Given the description of an element on the screen output the (x, y) to click on. 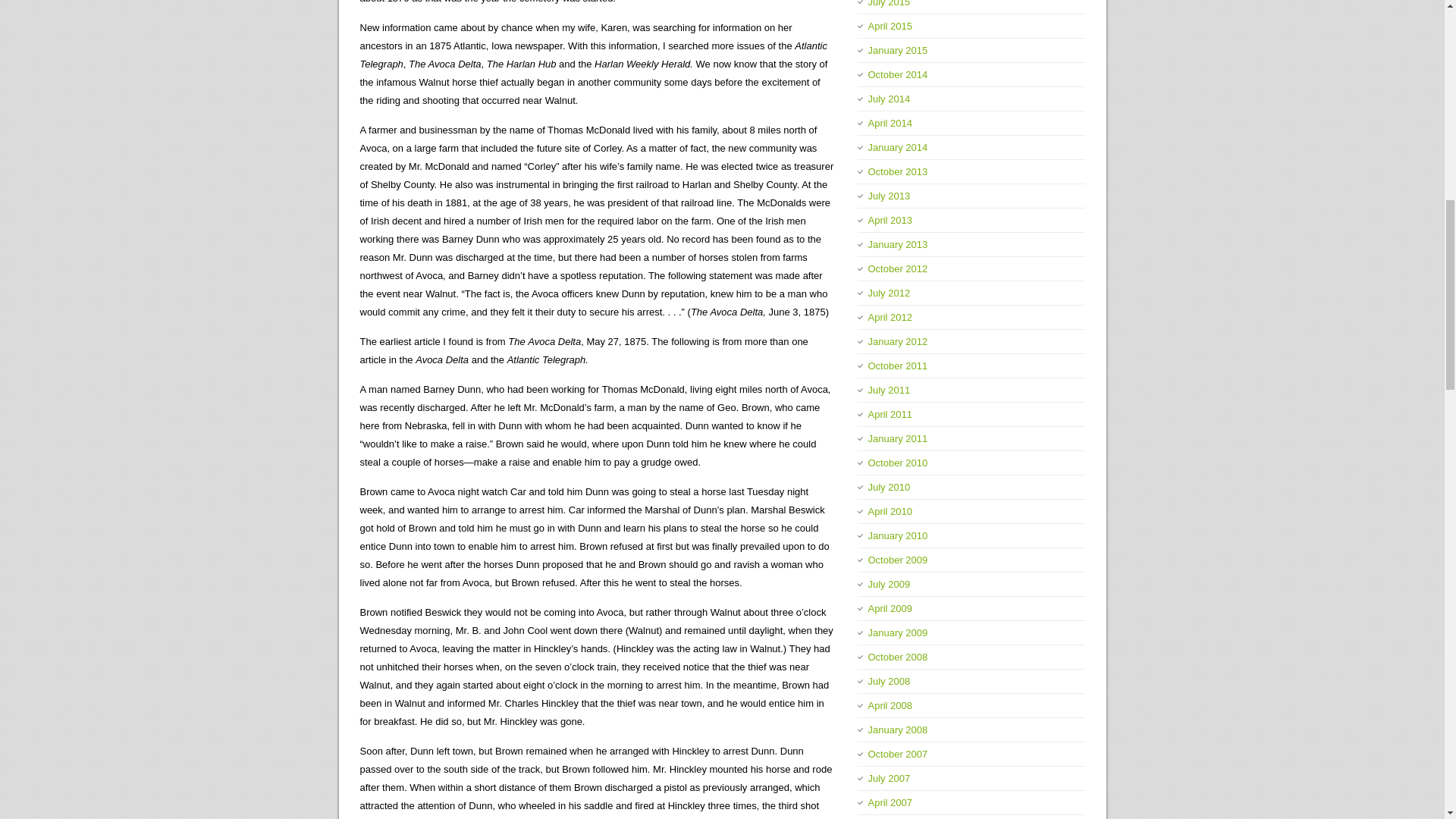
April 2014 (889, 122)
July 2014 (888, 98)
April 2015 (889, 25)
July 2015 (888, 3)
October 2014 (897, 74)
January 2015 (897, 50)
January 2014 (897, 147)
